Given the description of an element on the screen output the (x, y) to click on. 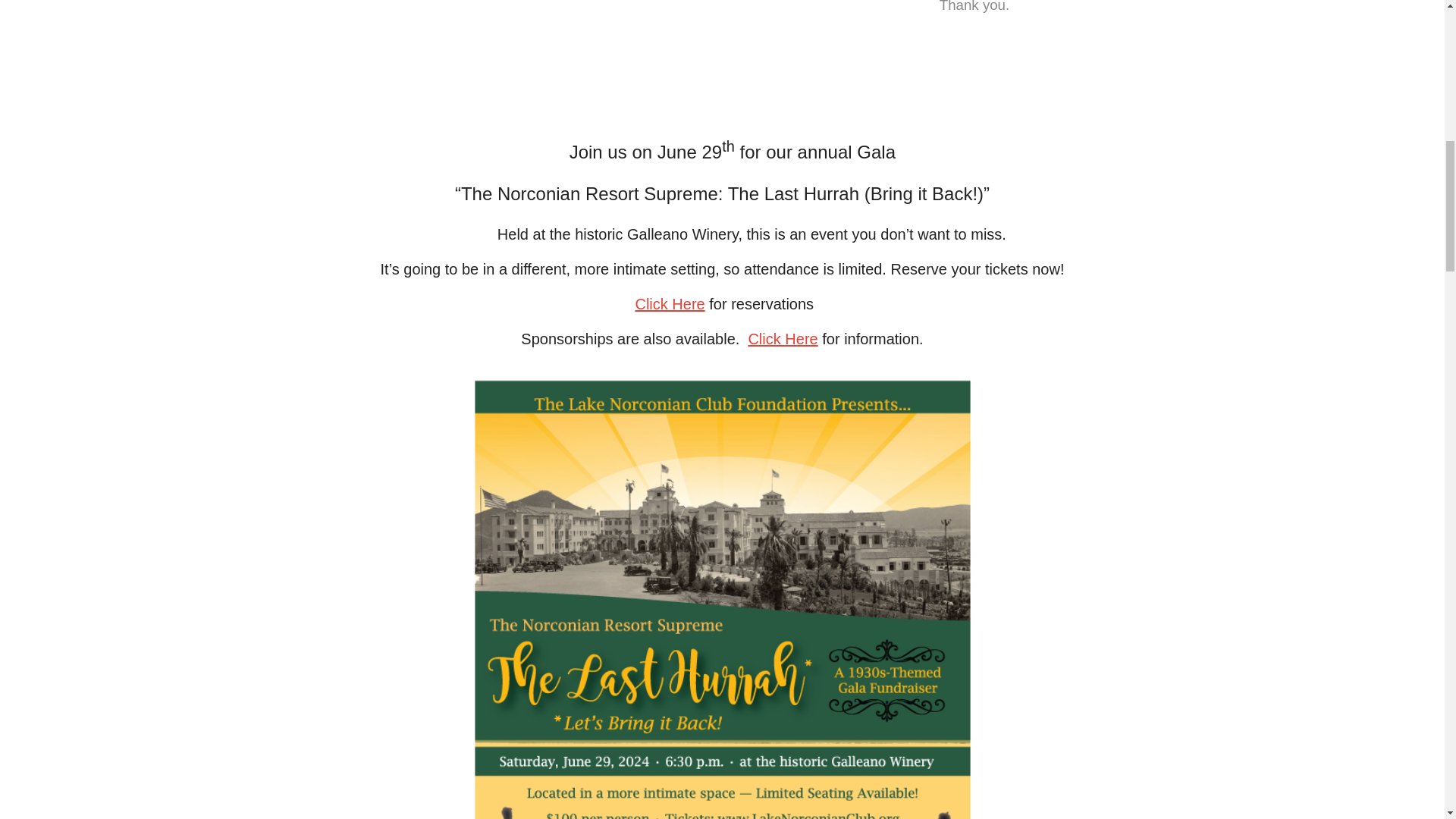
Click Here (669, 303)
Click Here (782, 338)
